Given the description of an element on the screen output the (x, y) to click on. 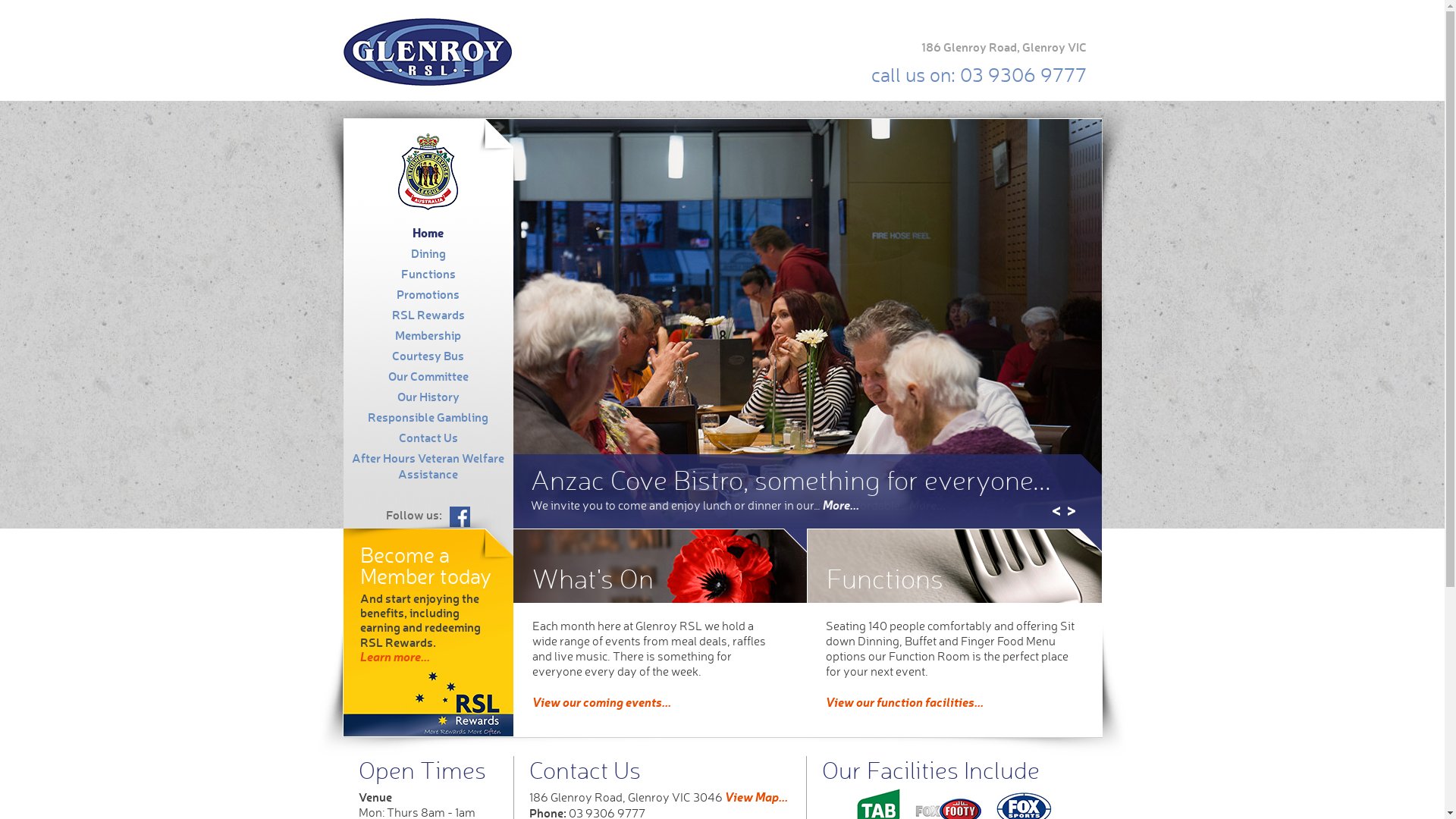
Functions Element type: text (427, 273)
More... Element type: text (926, 504)
View our function facilities... Element type: text (903, 701)
Previous Element type: hover (1055, 511)
Dining Element type: text (427, 252)
RSL Rewards Element type: text (427, 314)
Next Element type: hover (1070, 511)
Contact Us Element type: text (427, 436)
Our History Element type: text (427, 395)
View our coming events... Element type: text (601, 701)
Our Committee Element type: text (427, 375)
More... Element type: text (840, 504)
View Map... Element type: text (755, 796)
Home Element type: text (427, 231)
Responsible Gambling Element type: text (427, 416)
Membership Element type: text (427, 334)
Promotions Element type: text (427, 293)
After Hours Veteran Welfare Assistance Element type: text (427, 465)
Learn more... Element type: text (394, 656)
Courtesy Bus Element type: text (427, 355)
